Given the description of an element on the screen output the (x, y) to click on. 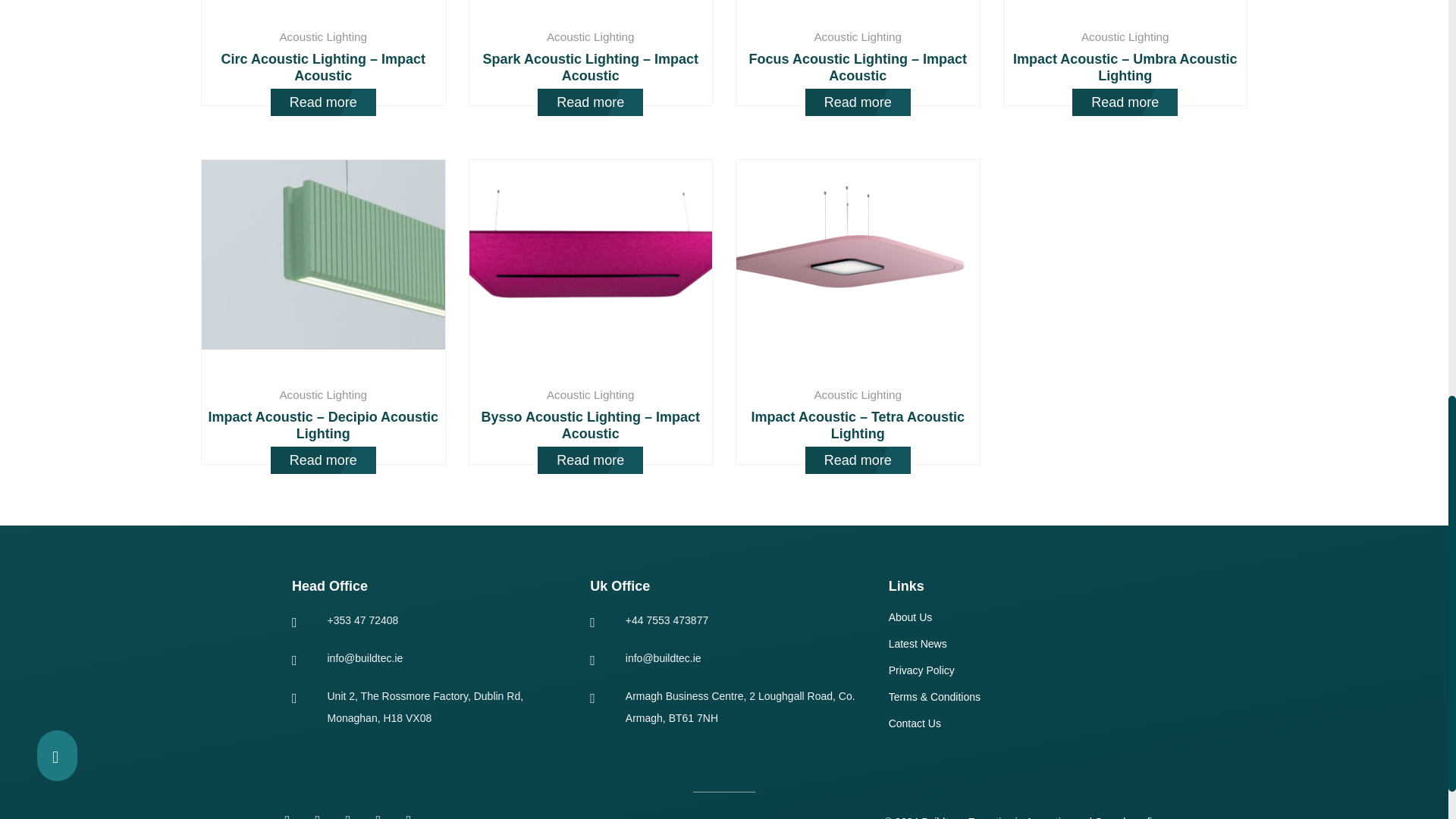
Read more (590, 102)
Read more (322, 102)
